Given the description of an element on the screen output the (x, y) to click on. 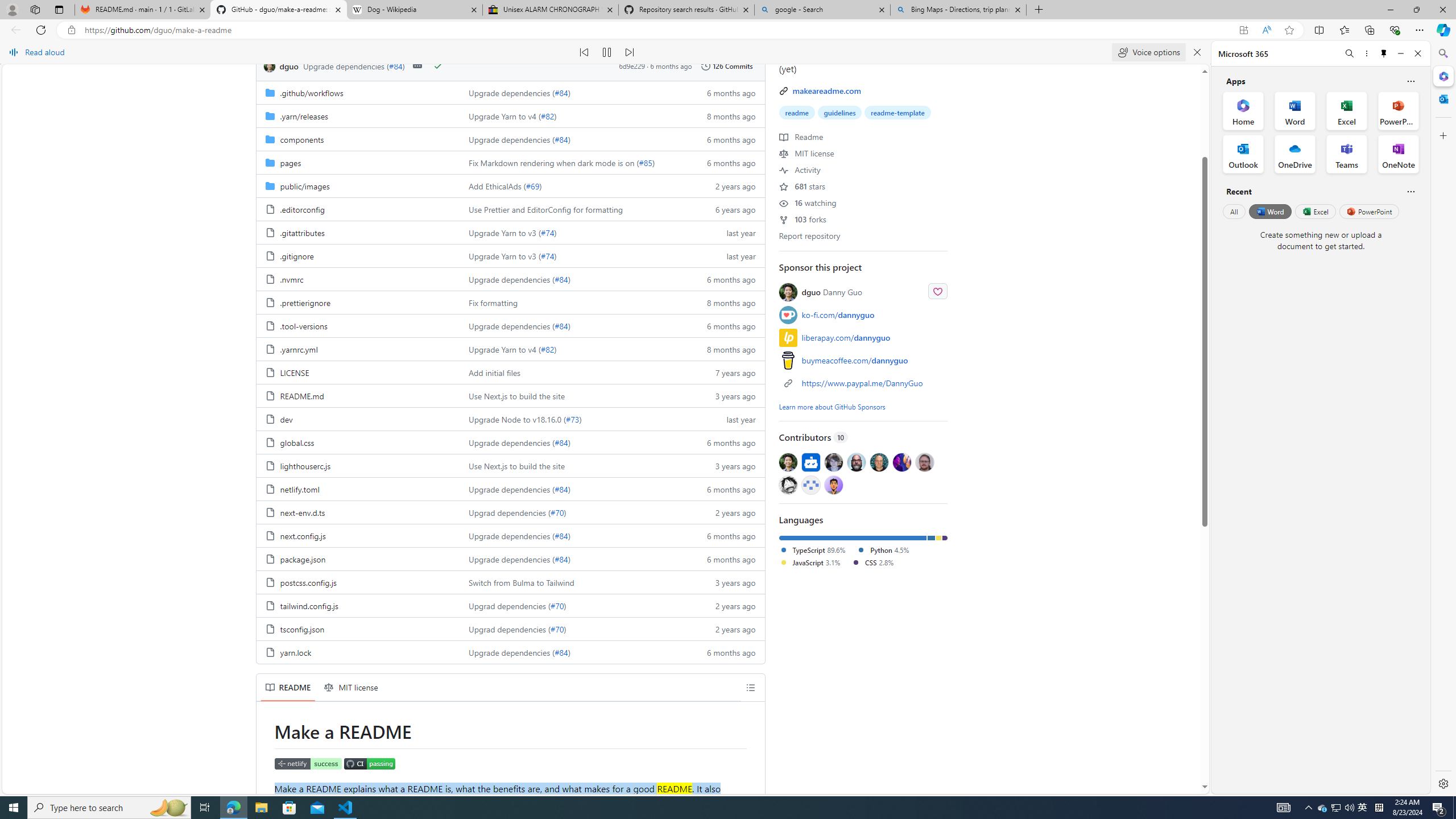
guidelines (838, 112)
Teams Office App (1346, 154)
8 months ago (725, 348)
.tool-versions, (File) (358, 325)
Excel Office App (1346, 110)
dev, (File) (285, 419)
liberapay (787, 337)
Report repository (809, 235)
Outline (750, 687)
Python 4.5% (883, 549)
OneNote Office App (1398, 154)
Switch from Bulma to Tailwind (573, 581)
.editorconfig, (File) (358, 208)
